Given the description of an element on the screen output the (x, y) to click on. 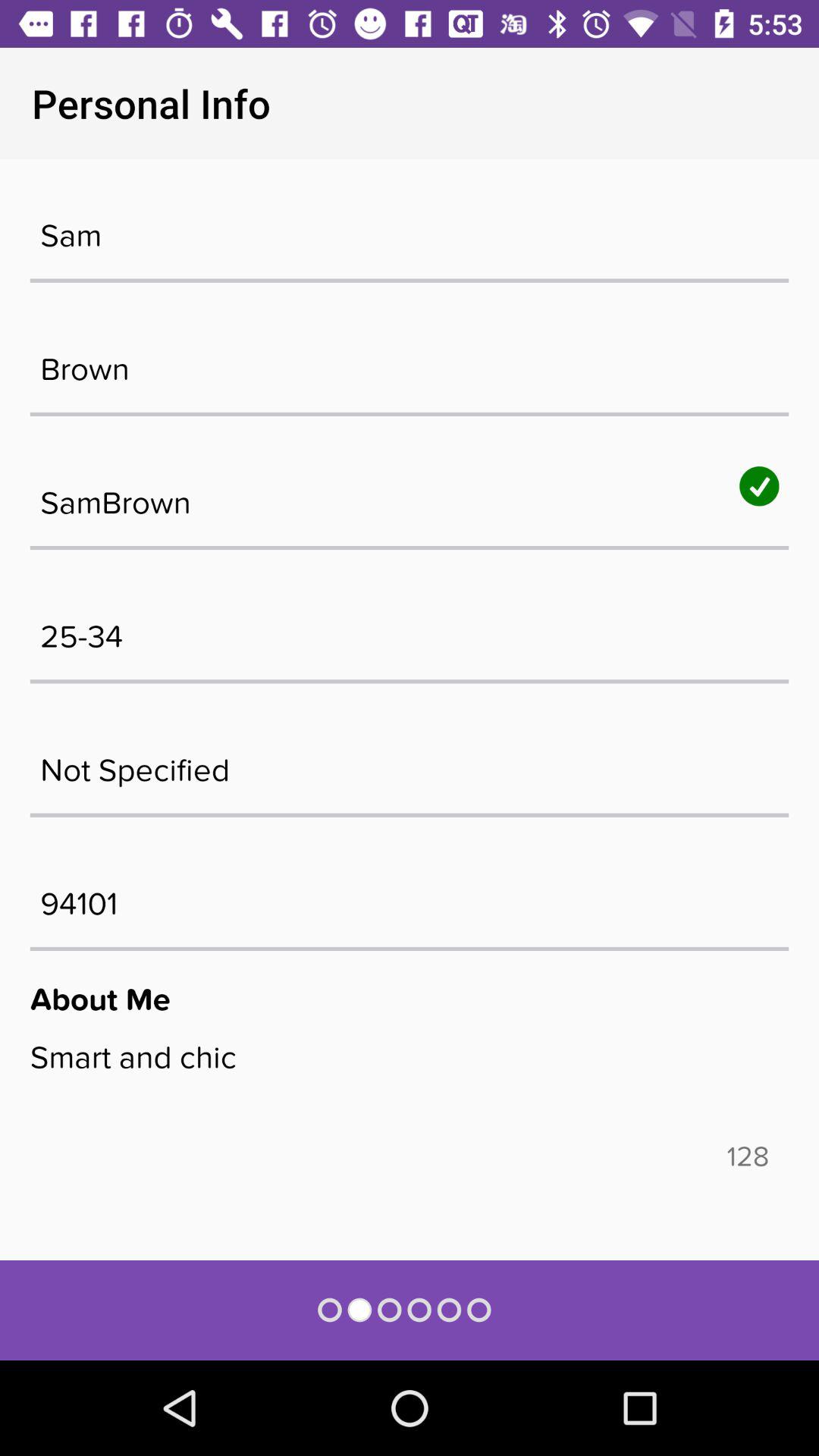
launch the 25-34 (409, 628)
